Given the description of an element on the screen output the (x, y) to click on. 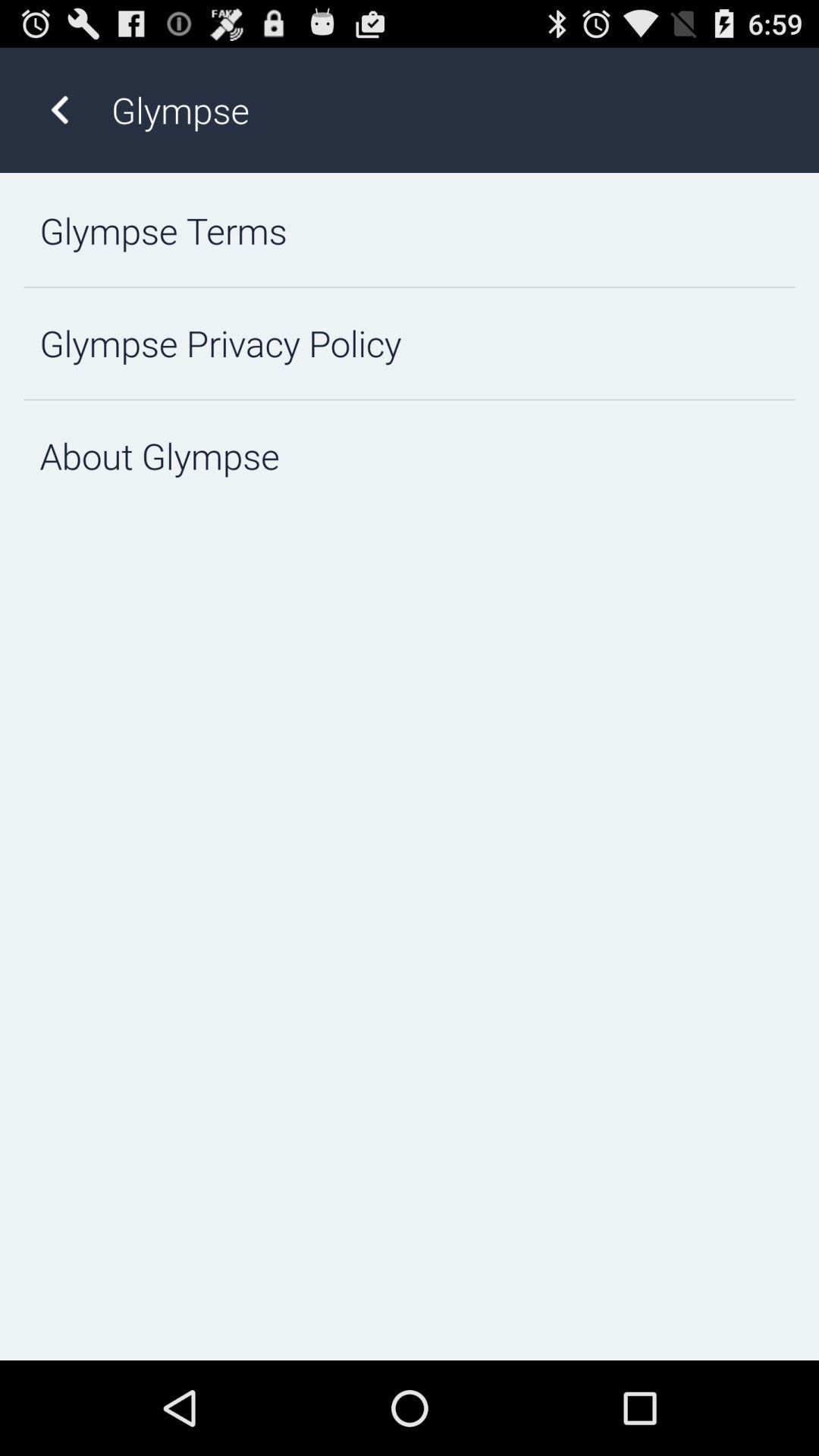
swipe to glympse privacy policy icon (409, 343)
